Given the description of an element on the screen output the (x, y) to click on. 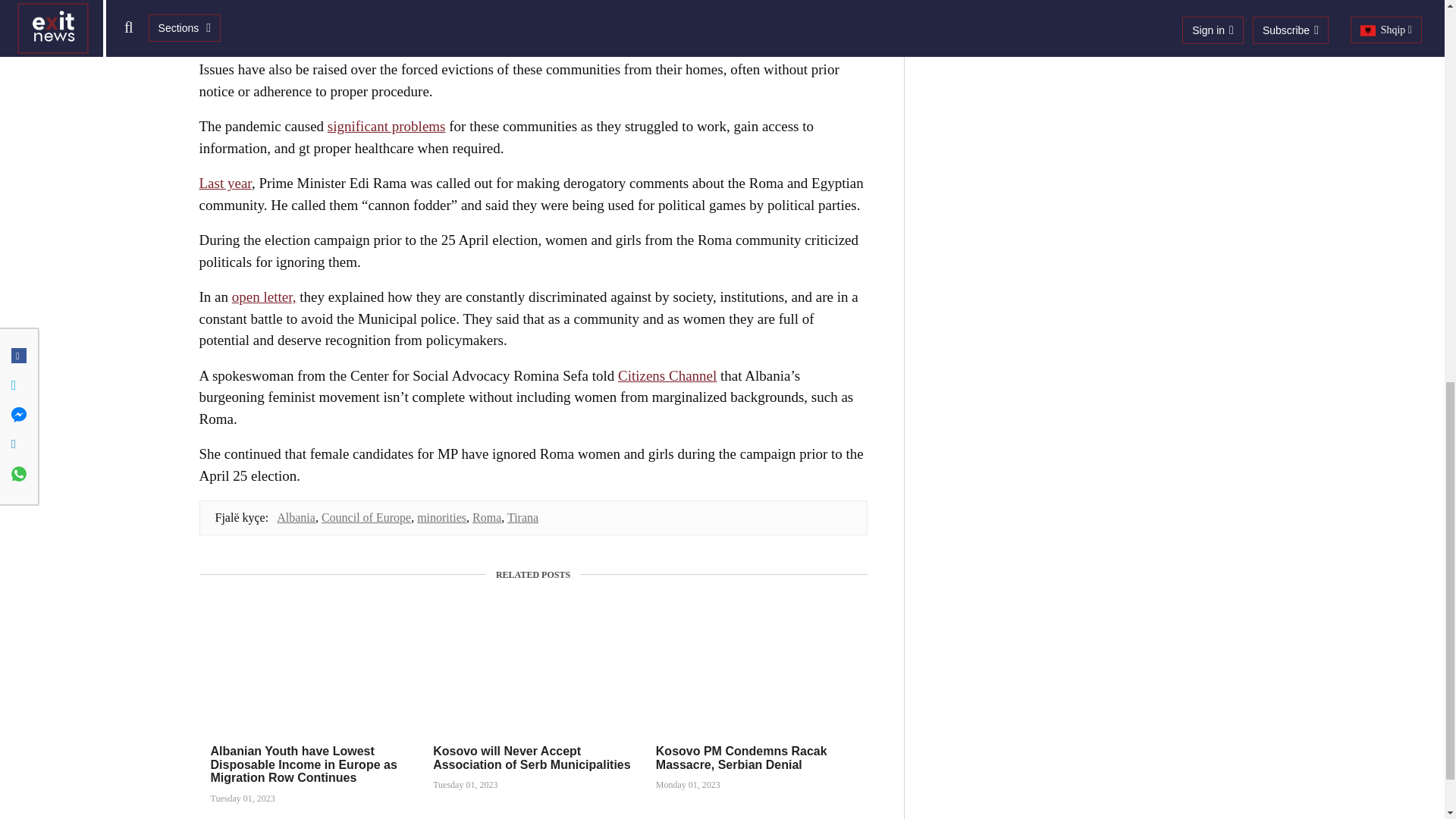
Citizens Channel (666, 375)
Kosovo PM Condemns Racak Massacre, Serbian Denial (741, 757)
minorities (440, 517)
Council of Europe (365, 517)
Tirana (522, 517)
Roma (485, 517)
Kosovo will Never Accept Association of Serb Municipalities (531, 757)
Last year (224, 182)
significant problems (386, 125)
